Given the description of an element on the screen output the (x, y) to click on. 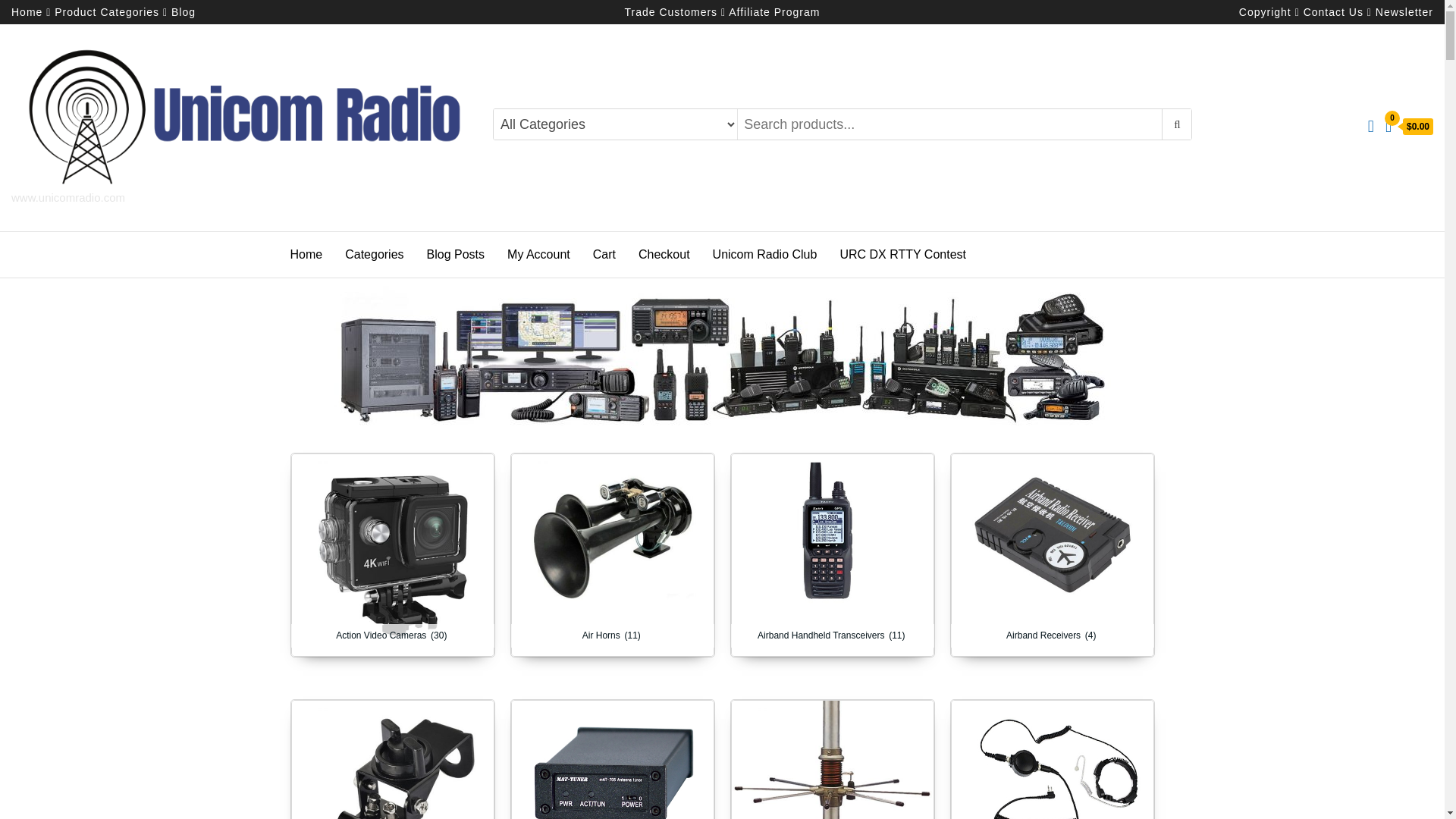
URC DX RTTY Contest (902, 254)
Cart (603, 254)
Unicom Radio (49, 210)
Affiliate Program (774, 11)
Blog (183, 11)
My Account (538, 254)
Contact Us (1332, 11)
Checkout (664, 254)
Product Categories (106, 11)
Home (26, 11)
